Given the description of an element on the screen output the (x, y) to click on. 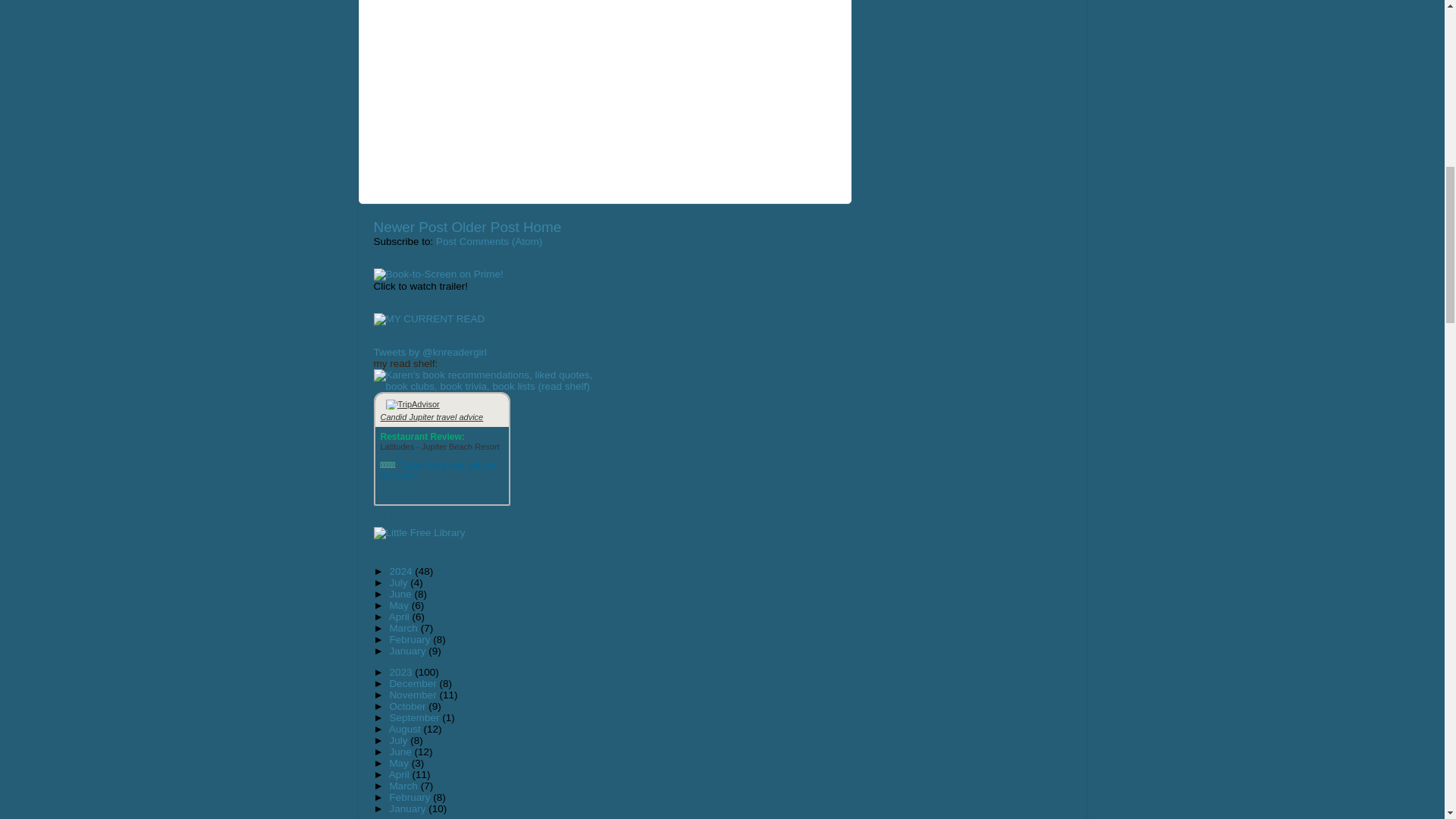
May (399, 604)
July (399, 582)
Older Post (484, 227)
2024 (401, 571)
March (404, 627)
Newer Post (409, 227)
April (400, 616)
Candid Jupiter travel advice (431, 416)
June (400, 593)
Home (541, 227)
Older Post (484, 227)
Newer Post (409, 227)
